Given the description of an element on the screen output the (x, y) to click on. 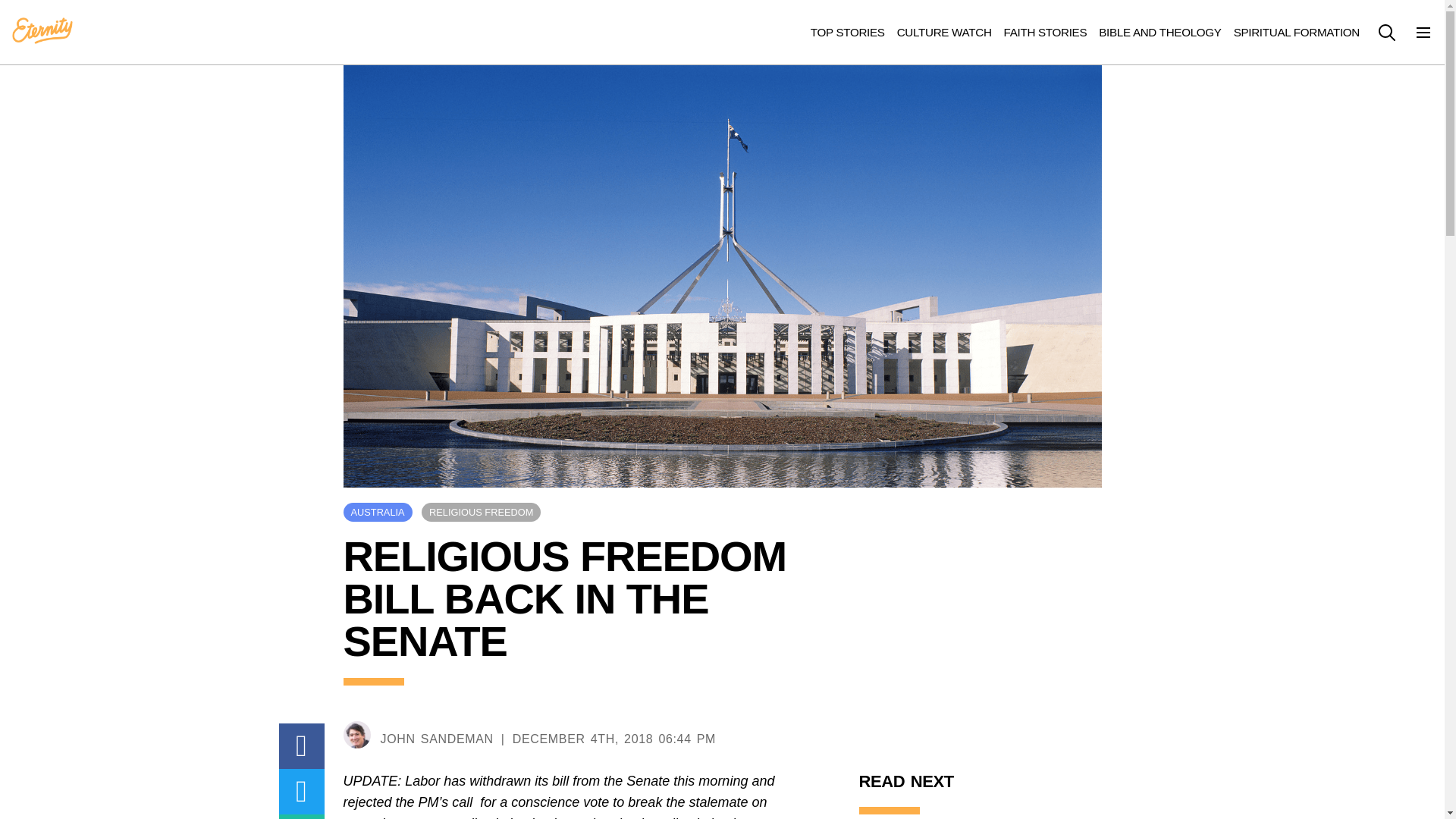
Share via WhatsApp (301, 816)
Return to the Eternity News Homepage (41, 31)
RELIGIOUS FREEDOM (481, 511)
CULTURE WATCH (943, 32)
FAITH STORIES (1045, 32)
BIBLE AND THEOLOGY (1160, 32)
TOP STORIES (847, 32)
AUSTRALIA (377, 511)
Share on Twitter (301, 791)
SPIRITUAL FORMATION (1296, 32)
JOHN SANDEMAN (436, 738)
Share on Facebook (301, 746)
